Given the description of an element on the screen output the (x, y) to click on. 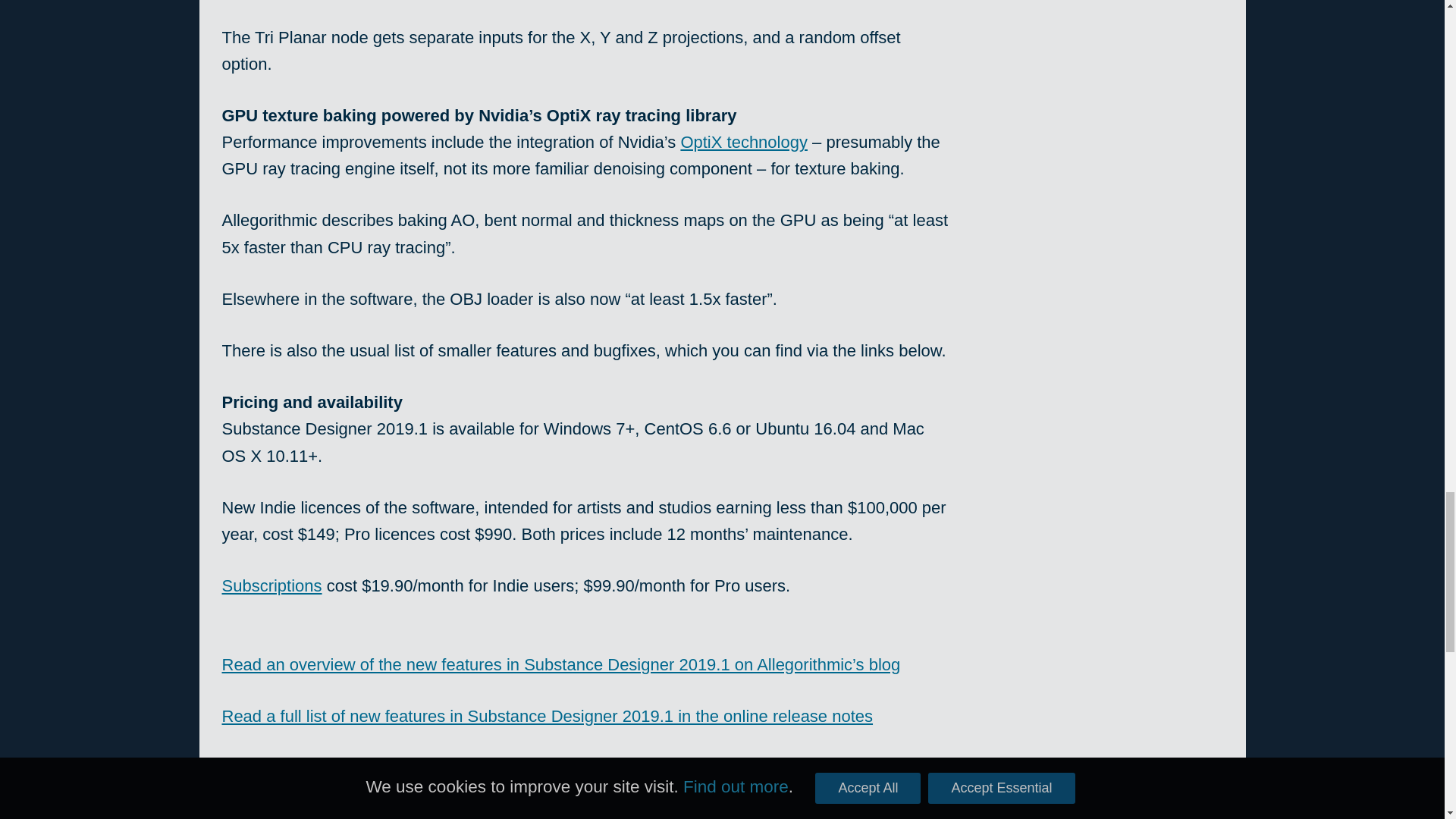
OptiX technology (743, 141)
Subscriptions (271, 585)
